Given the description of an element on the screen output the (x, y) to click on. 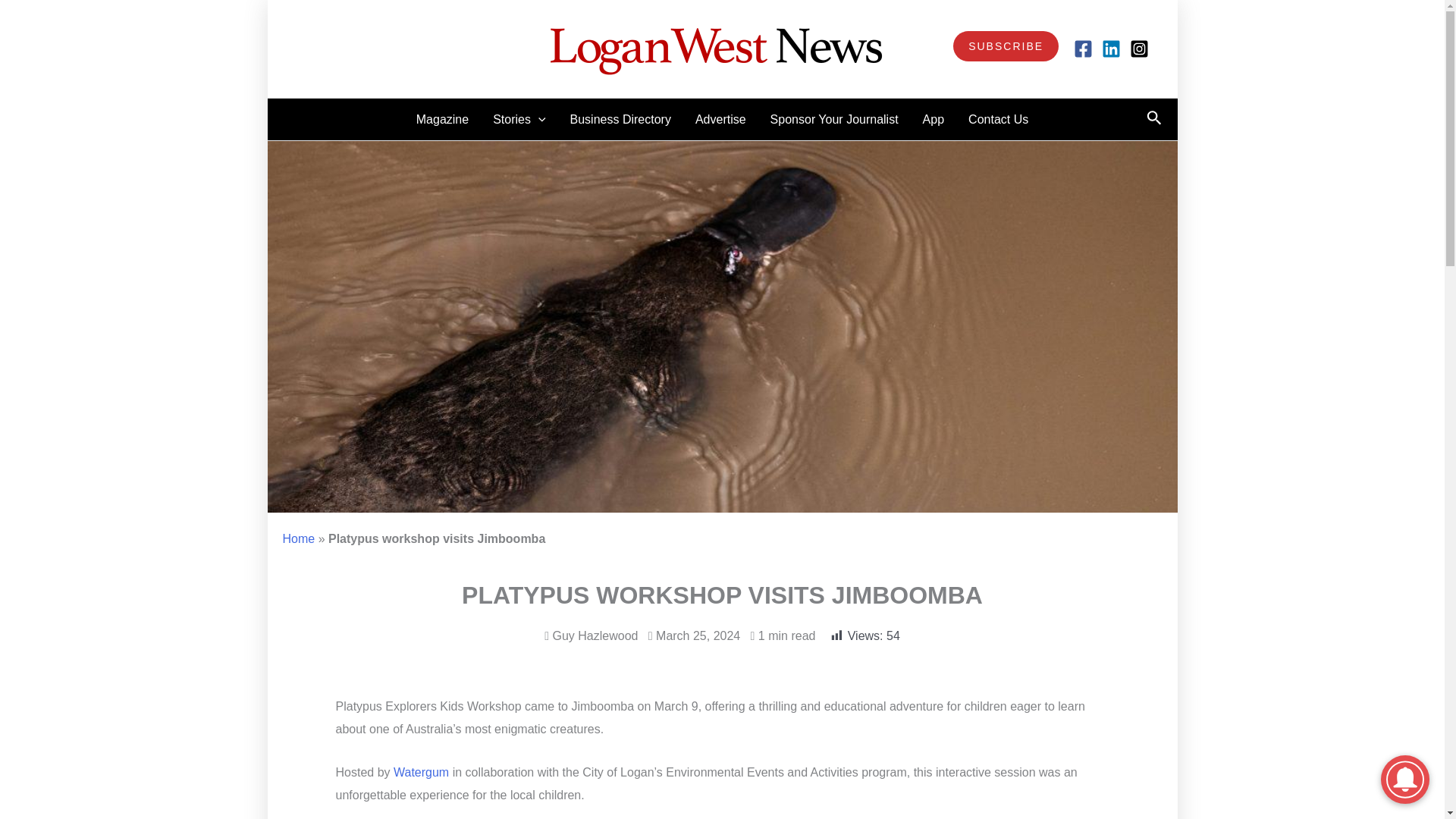
Advertise (720, 119)
Contact Us (998, 119)
Sponsor Your Journalist (834, 119)
Stories (518, 119)
App (933, 119)
SUBSCRIBE (1005, 46)
Business Directory (619, 119)
Magazine (442, 119)
